Given the description of an element on the screen output the (x, y) to click on. 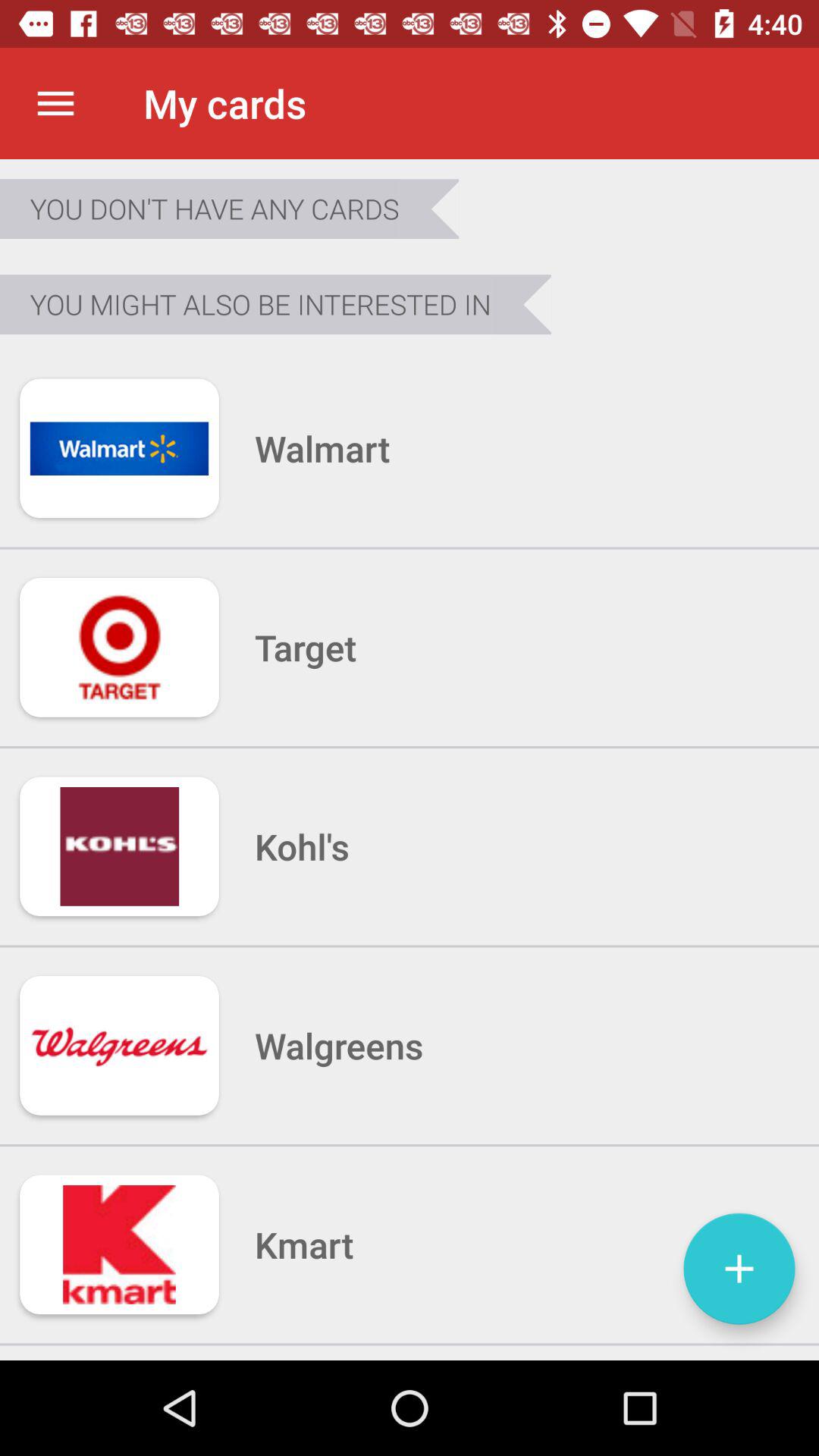
choose icon to the left of the my cards item (55, 103)
